Given the description of an element on the screen output the (x, y) to click on. 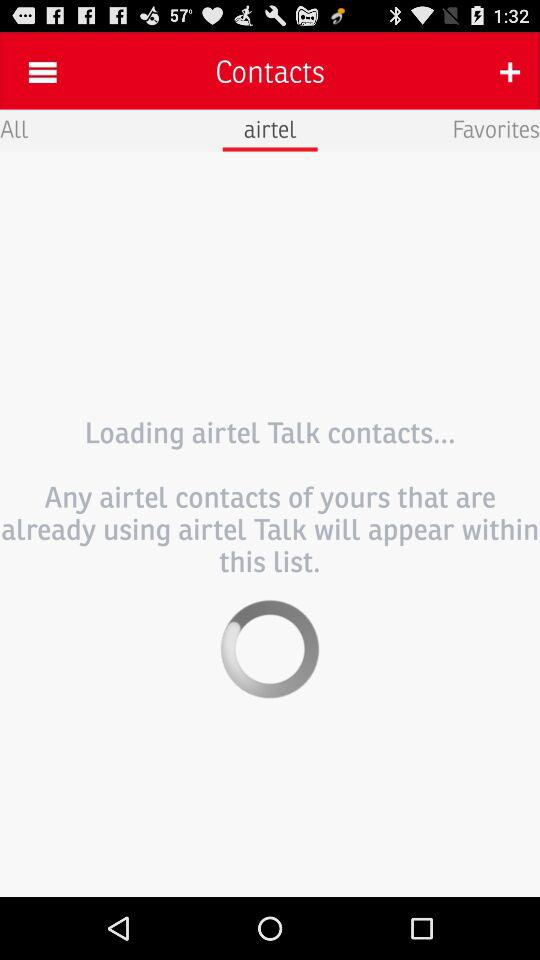
launch the app next to airtel app (14, 128)
